Given the description of an element on the screen output the (x, y) to click on. 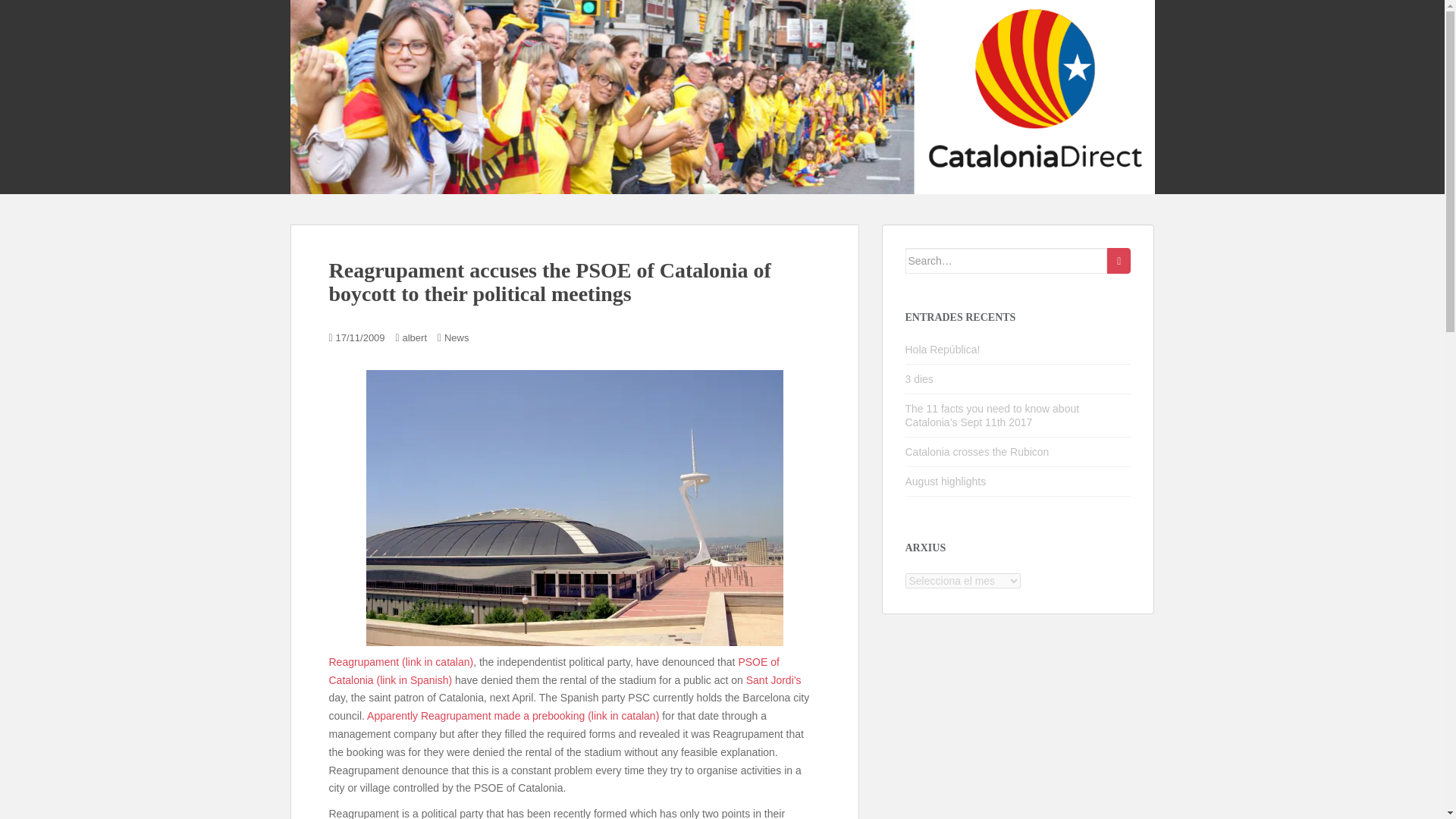
Search (1118, 260)
Palau Sant Jordi (574, 508)
3 dies (919, 378)
News (456, 337)
albert (413, 337)
August highlights (946, 481)
Catalonia crosses the Rubicon (977, 451)
Search for: (1006, 260)
